Given the description of an element on the screen output the (x, y) to click on. 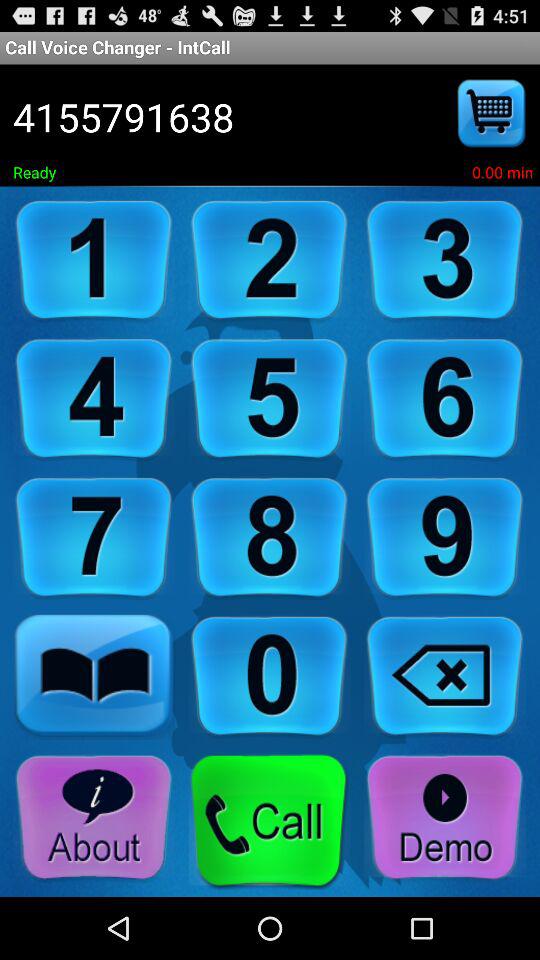
dial number 2 (269, 260)
